Given the description of an element on the screen output the (x, y) to click on. 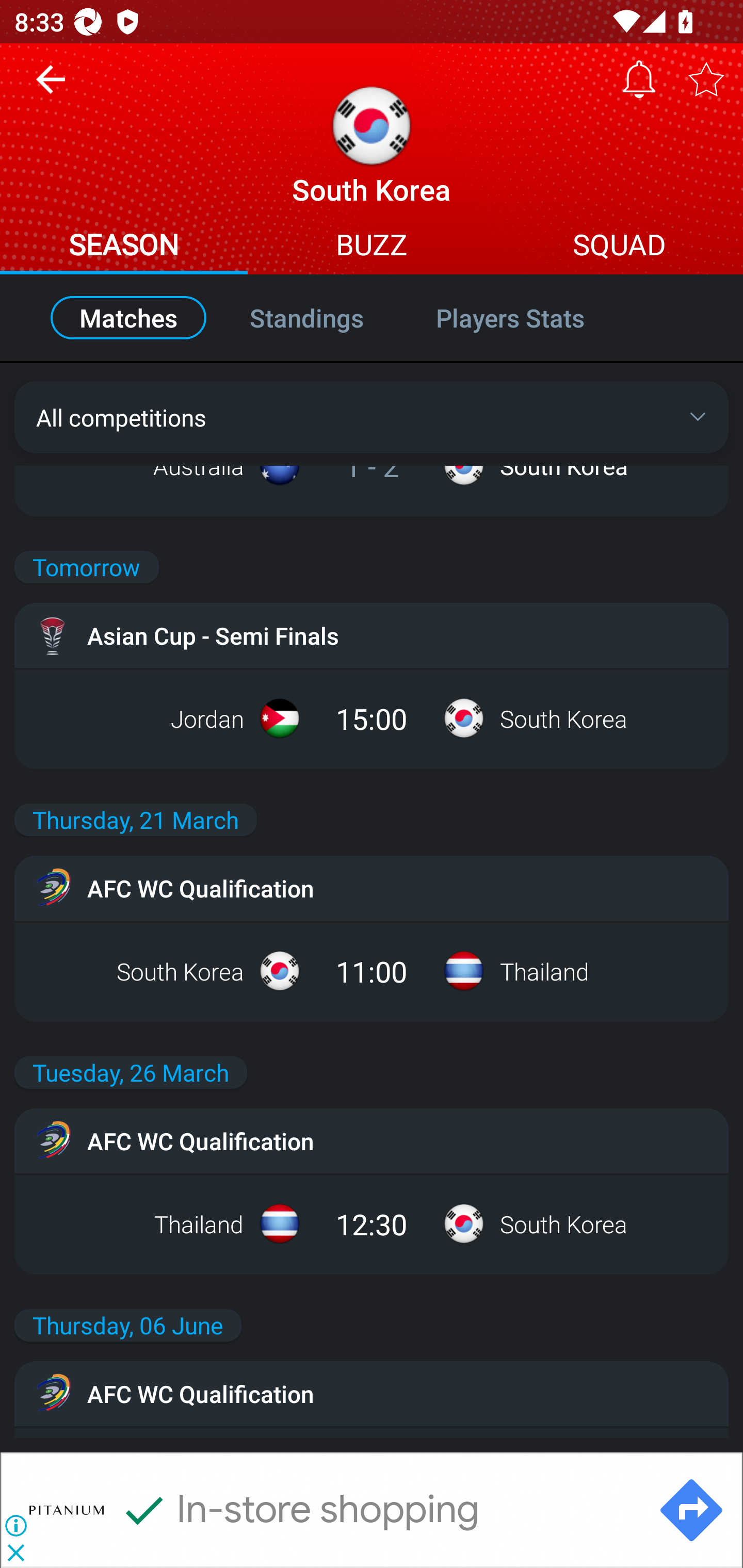
Navigate up (50, 86)
SEASON (123, 246)
BUZZ (371, 246)
SQUAD (619, 246)
Standings (306, 317)
Players Stats (531, 317)
All competitions (371, 417)
Asian Cup - Semi Finals (371, 635)
Jordan 15:00 South Korea (371, 717)
AFC WC Qualification (371, 888)
South Korea 11:00 Thailand (371, 971)
AFC WC Qualification (371, 1140)
Thailand 12:30 South Korea (371, 1223)
AFC WC Qualification (371, 1393)
In-store shopping (298, 1510)
